Given the description of an element on the screen output the (x, y) to click on. 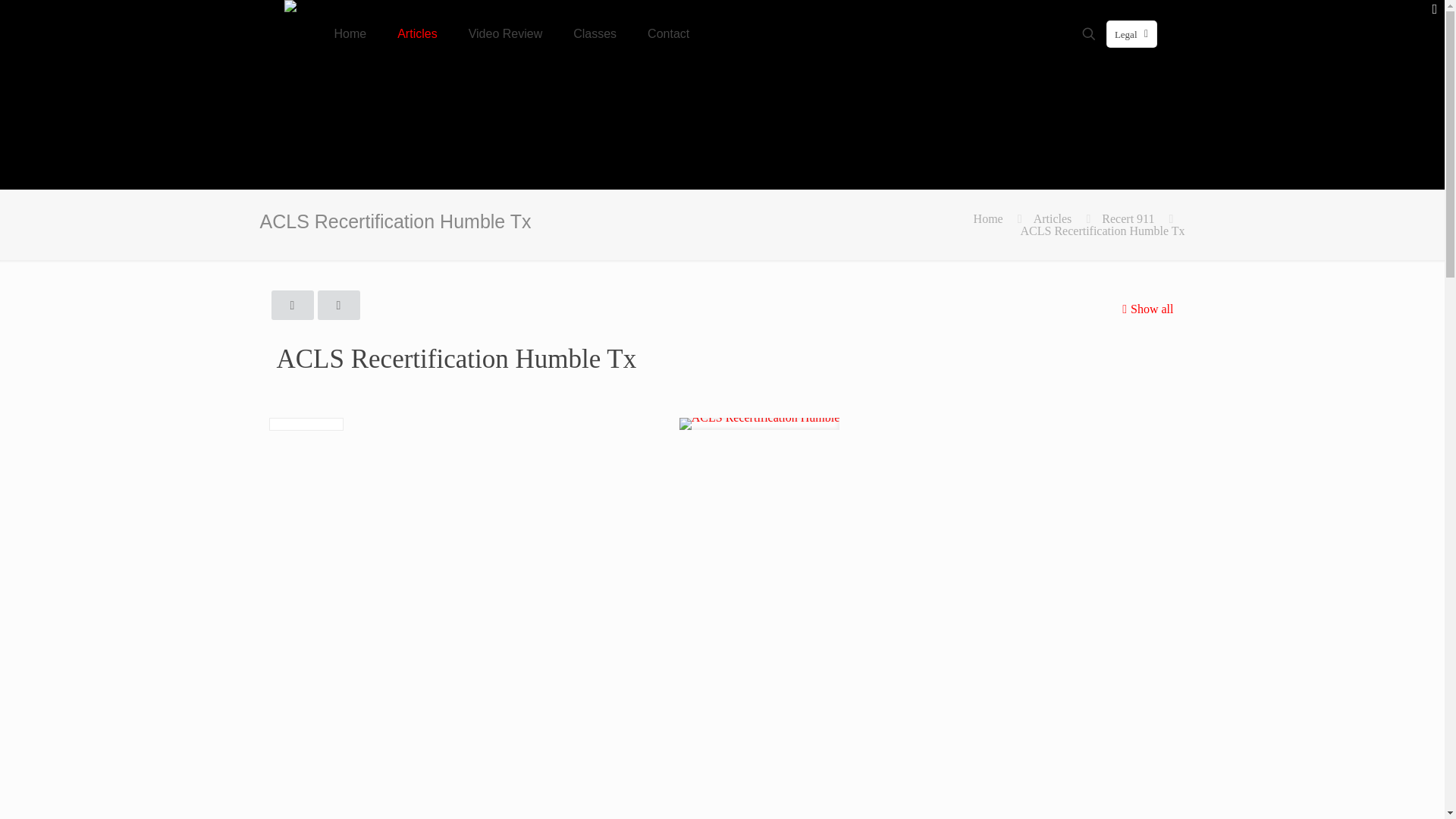
Articles (416, 33)
Video Review (505, 33)
ACLS Recertification Humble Tx (1102, 230)
Classes (594, 33)
Home (988, 218)
Legal (1131, 33)
Contact (667, 33)
Articles (1052, 218)
Recert911 - CPR, ACLS, PALS, and BLS Texas (289, 22)
Recert 911 (1128, 218)
Home (349, 33)
